Given the description of an element on the screen output the (x, y) to click on. 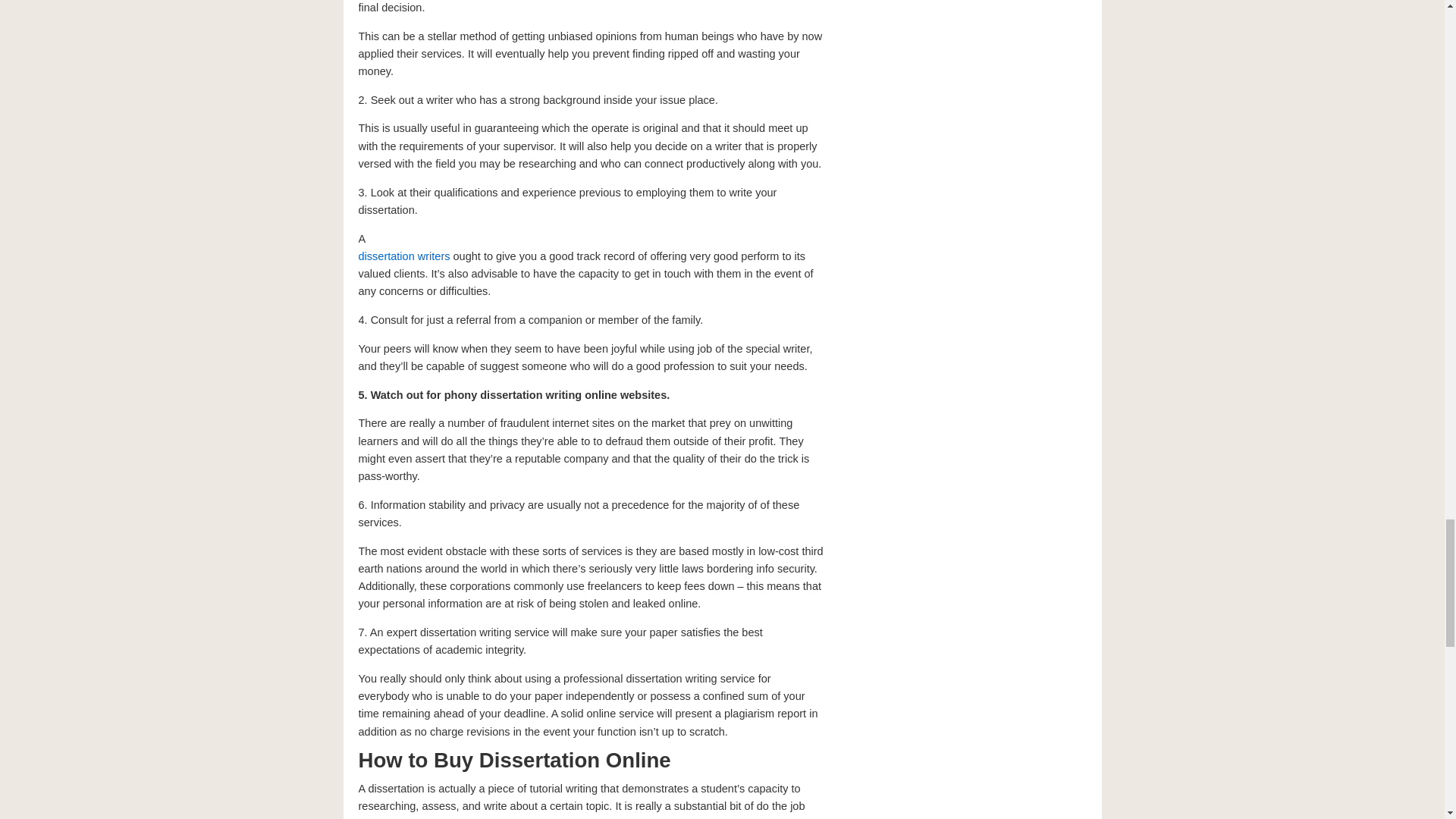
dissertation writers (403, 256)
